Given the description of an element on the screen output the (x, y) to click on. 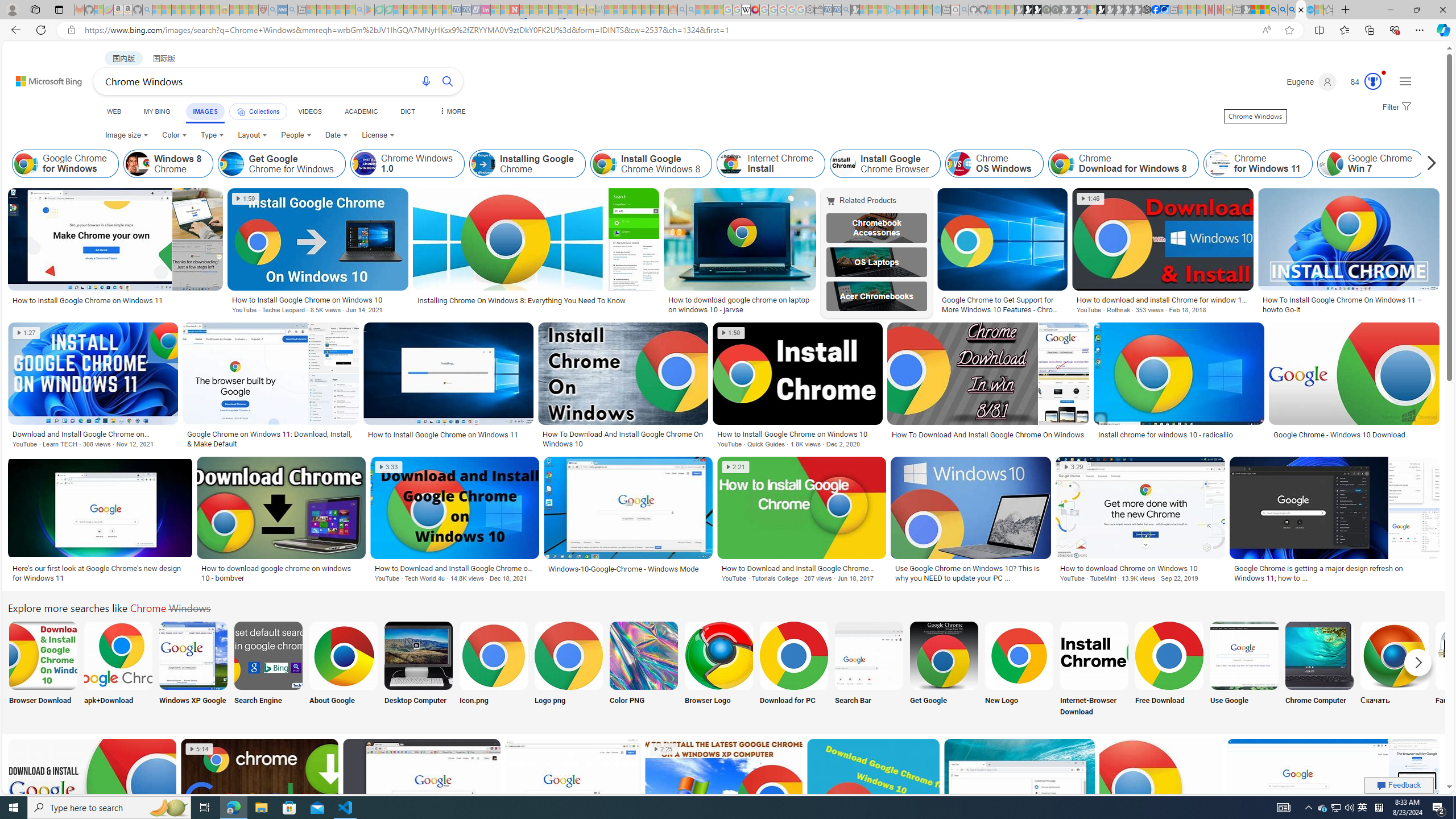
Chrome Free Download Free Download (1169, 669)
Free Download (1169, 669)
Use Google (1243, 669)
About Google Chrome About Google (342, 669)
Chrome apk+Download (118, 654)
Windows-10-Google-Chrome - Windows Mode (623, 568)
apk+Download (118, 669)
2009 Bing officially replaced Live Search on June 3 - Search (1283, 9)
